Given the description of an element on the screen output the (x, y) to click on. 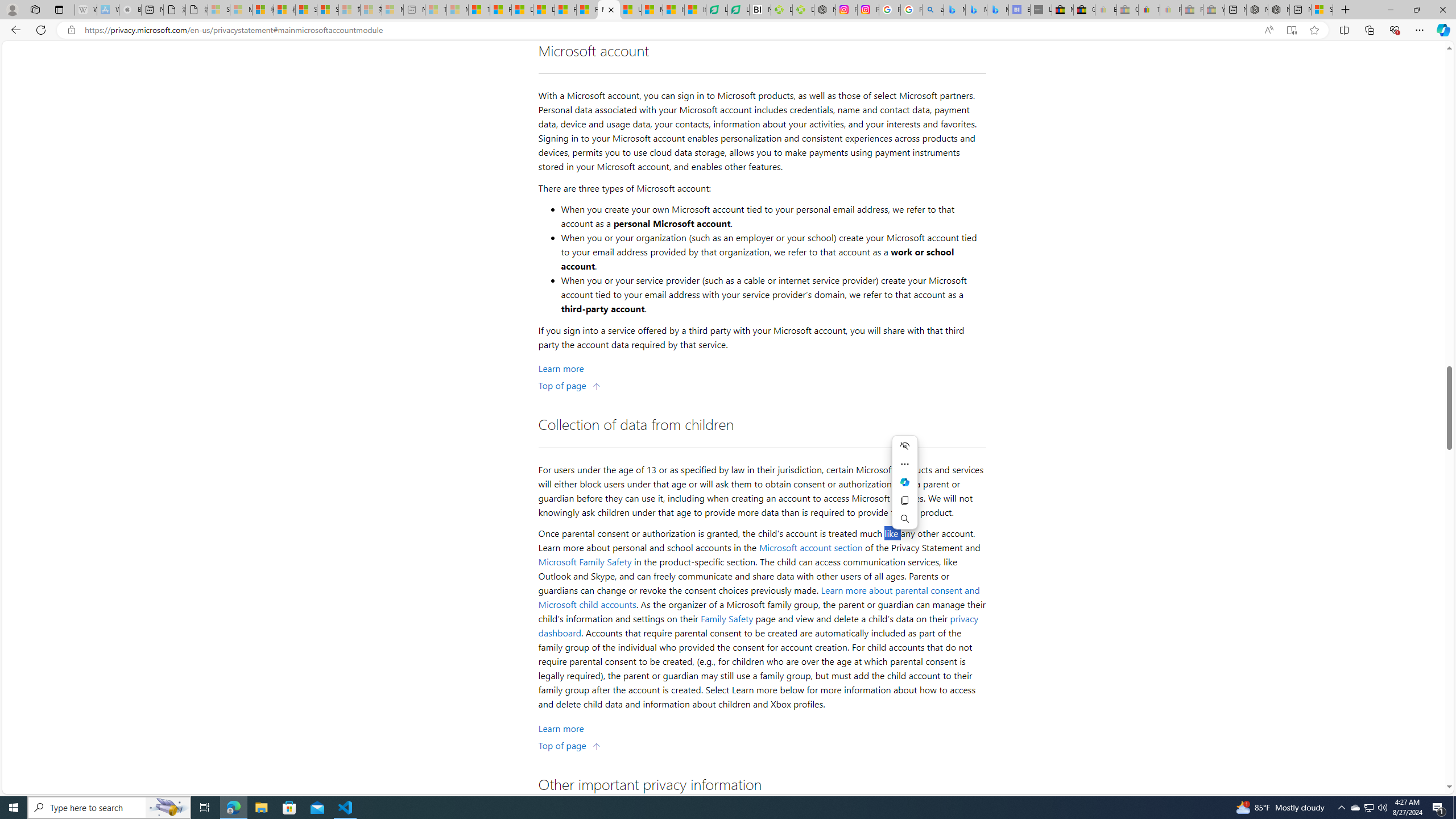
Descarga Driver Updater (802, 9)
More actions (904, 464)
Learn More about Microsoft account (560, 368)
Top of page (569, 744)
US Heat Deaths Soared To Record High Last Year (630, 9)
Payments Terms of Use | eBay.com - Sleeping (1170, 9)
Microsoft Bing Travel - Shangri-La Hotel Bangkok (997, 9)
